Given the description of an element on the screen output the (x, y) to click on. 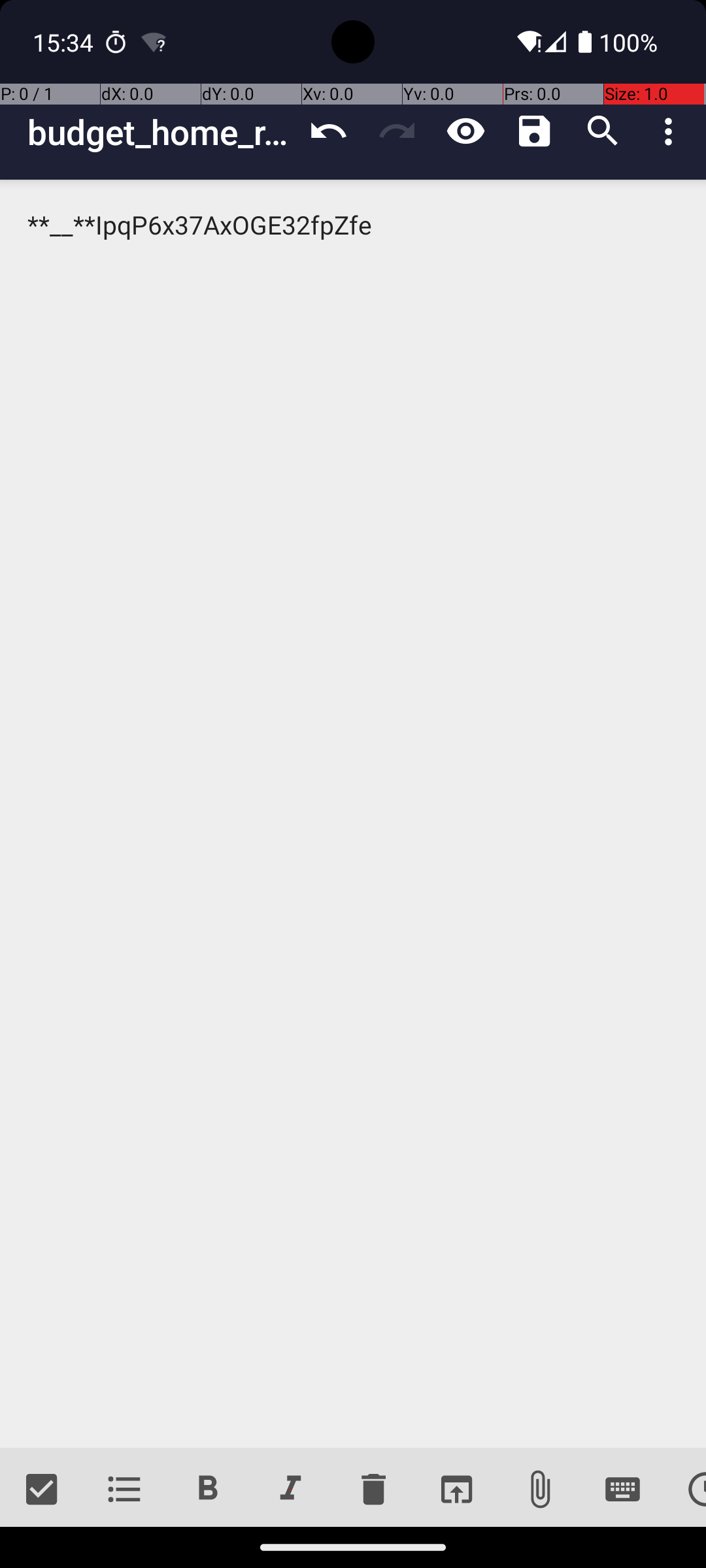
budget_home_renovation_copy Element type: android.widget.TextView (160, 131)
**__**IpqP6x37AxOGE32fpZfe
 Element type: android.widget.EditText (353, 813)
